Given the description of an element on the screen output the (x, y) to click on. 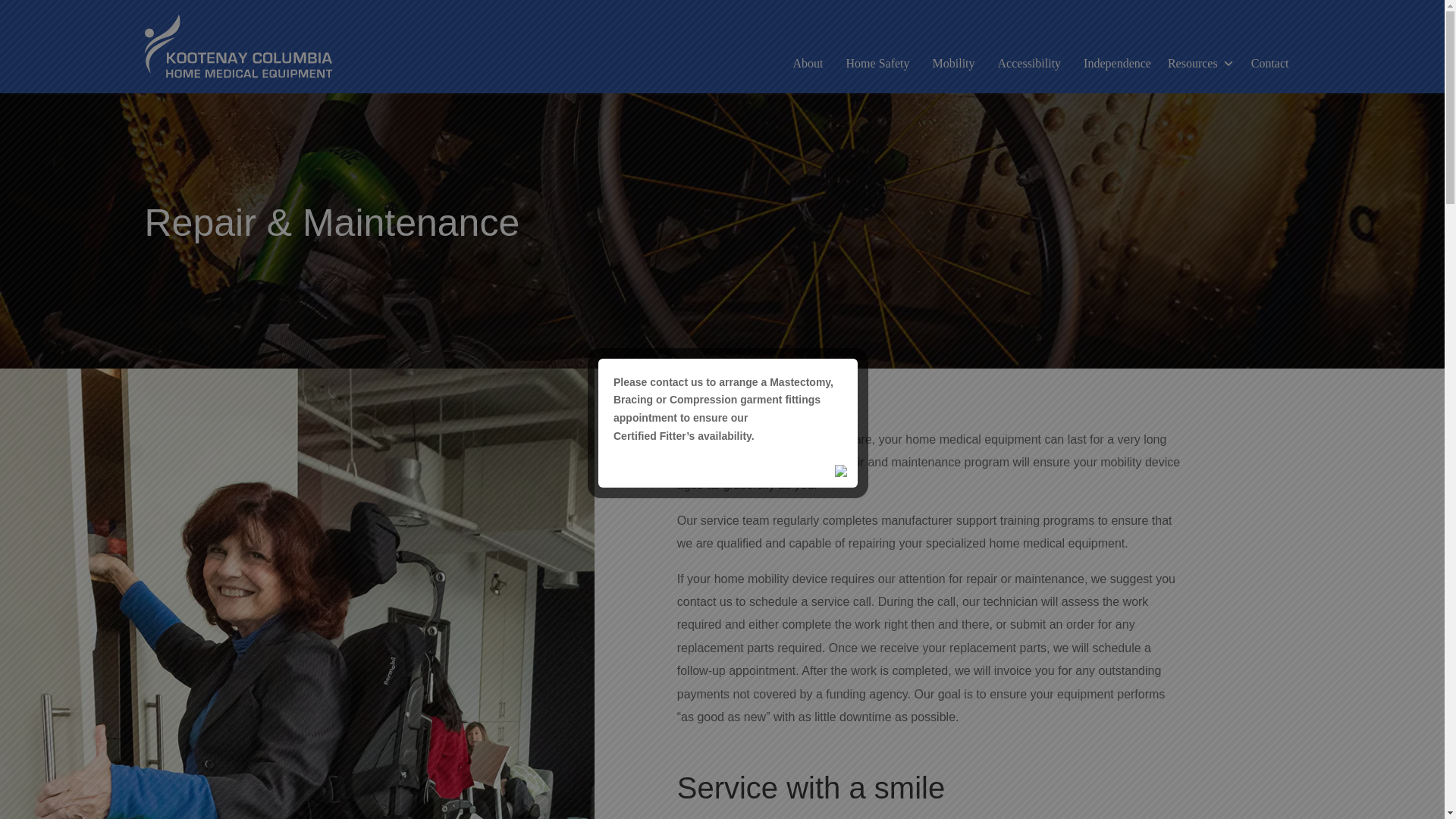
Search (769, 138)
About (807, 63)
Accessibility (1030, 63)
Close (842, 472)
Resources (1200, 63)
Home Safety (877, 63)
Independence (1116, 63)
Mobility (954, 63)
Group 9816 (237, 45)
